Given the description of an element on the screen output the (x, y) to click on. 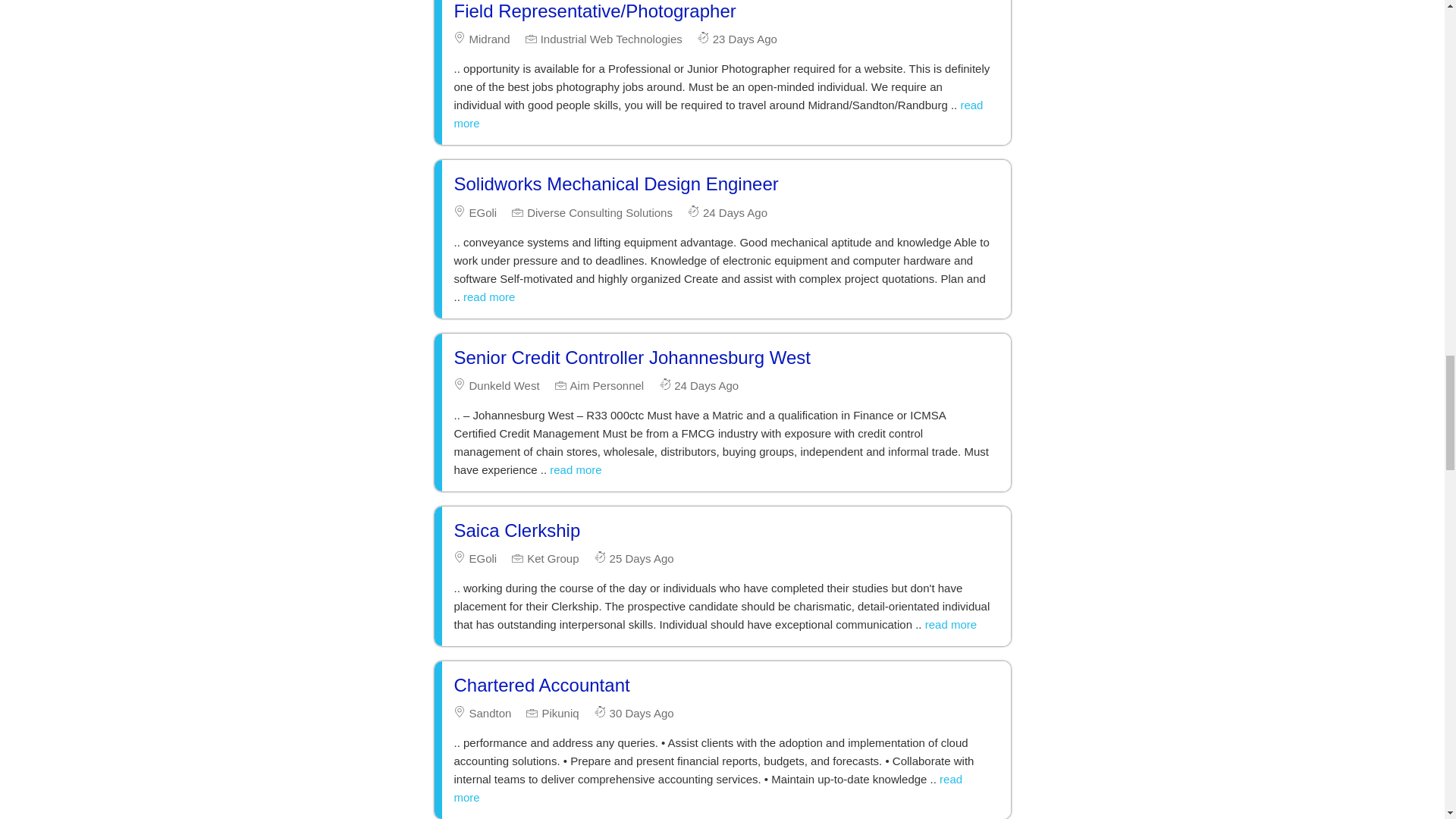
Solidworks Mechanical Design Engineer (614, 183)
read more (950, 624)
Senior Credit Controller Johannesburg West (630, 357)
read more (489, 296)
read more (707, 788)
Chartered Accountant (540, 684)
Saica Clerkship (515, 530)
read more (575, 469)
read more (717, 113)
